Given the description of an element on the screen output the (x, y) to click on. 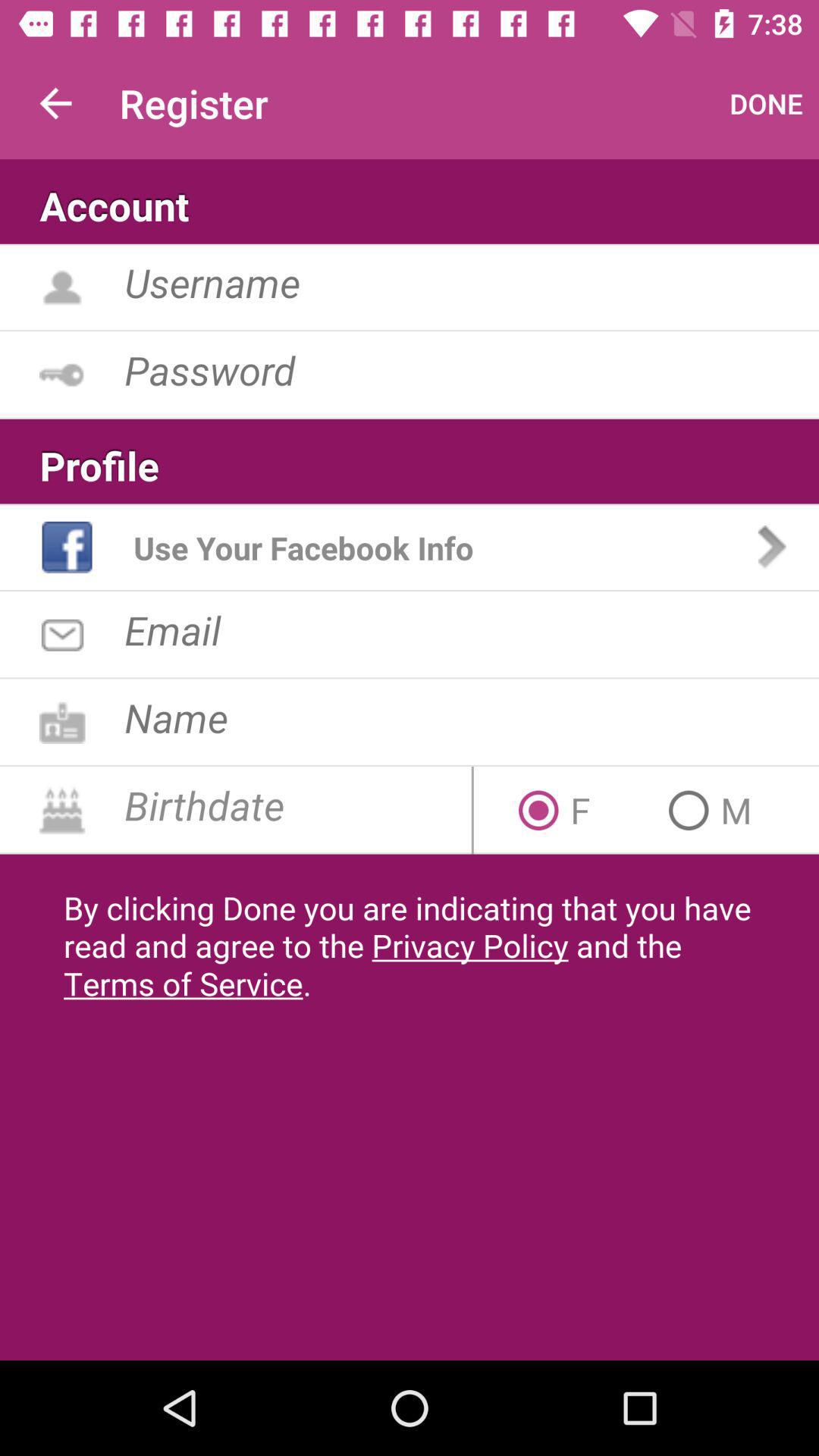
password (471, 369)
